Given the description of an element on the screen output the (x, y) to click on. 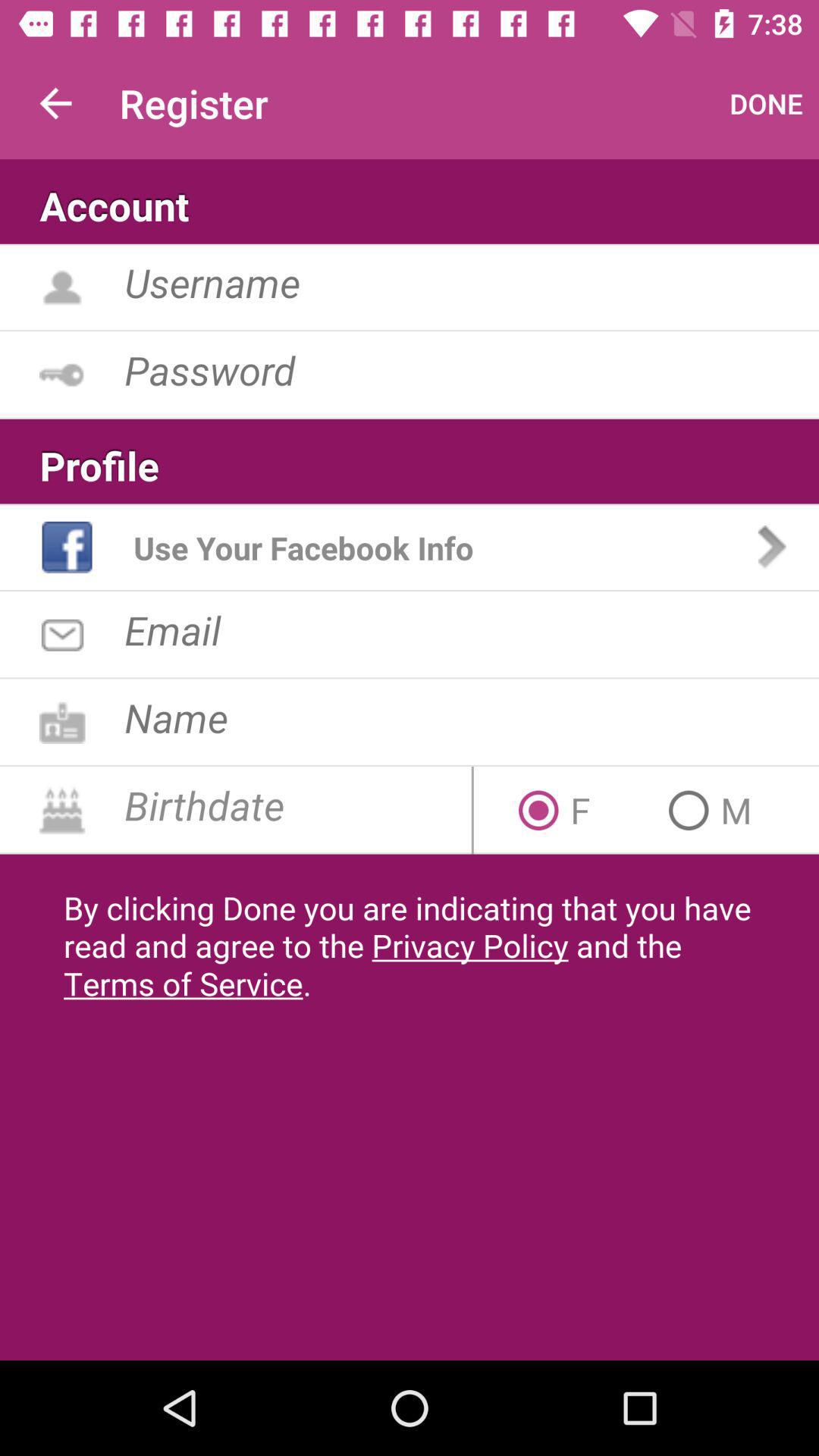
password (471, 369)
